Given the description of an element on the screen output the (x, y) to click on. 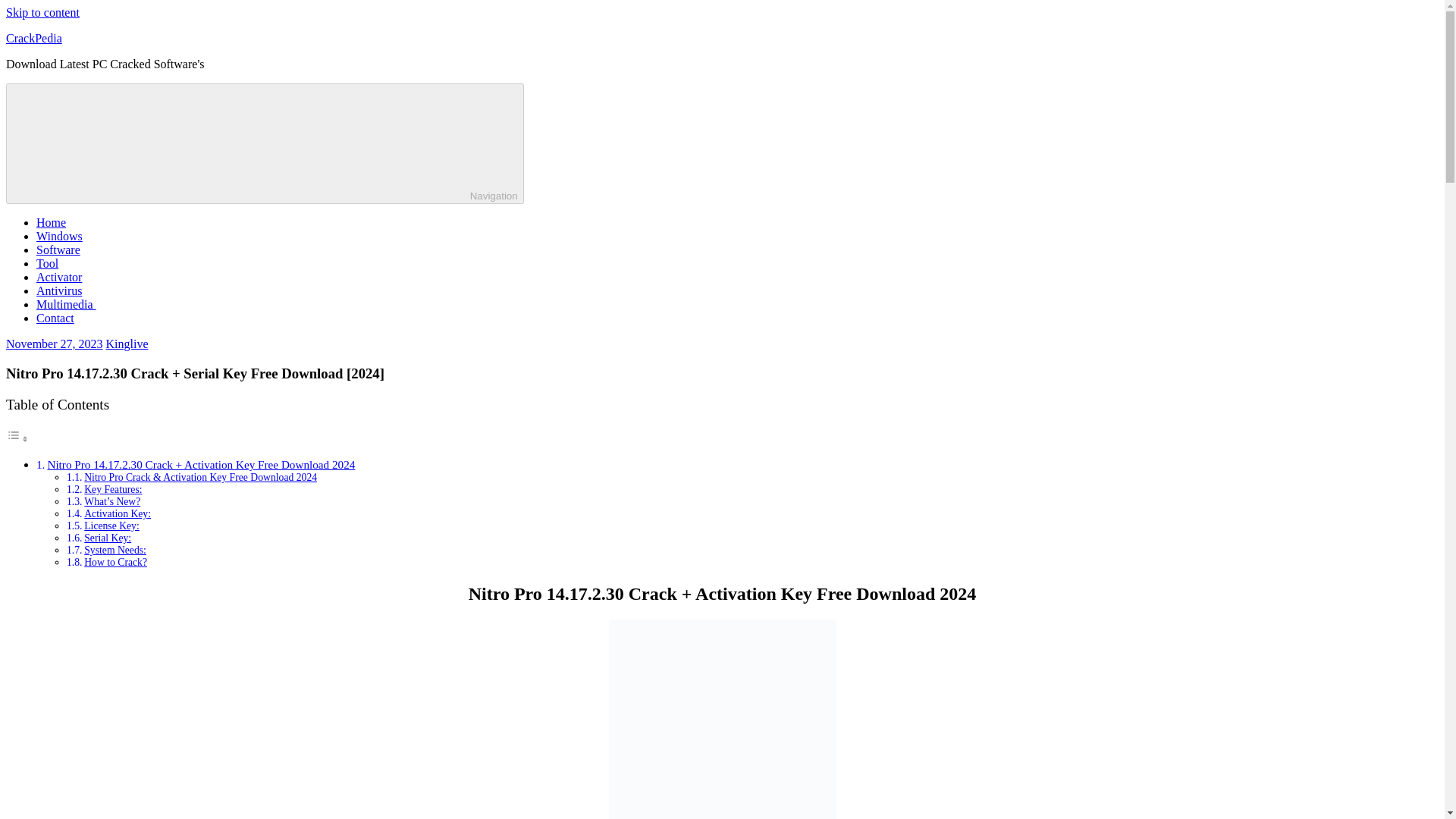
CrackPedia (33, 38)
Skip to content (42, 11)
License Key: (111, 525)
Activation Key: (117, 513)
Antivirus (58, 290)
Key Features: (112, 489)
Navigation (264, 143)
Activation Key: (117, 513)
System Needs: (115, 550)
Serial Key: (107, 537)
How to Crack? (115, 562)
Windows (59, 236)
Kinglive (127, 343)
System Needs: (115, 550)
Contact (55, 318)
